Given the description of an element on the screen output the (x, y) to click on. 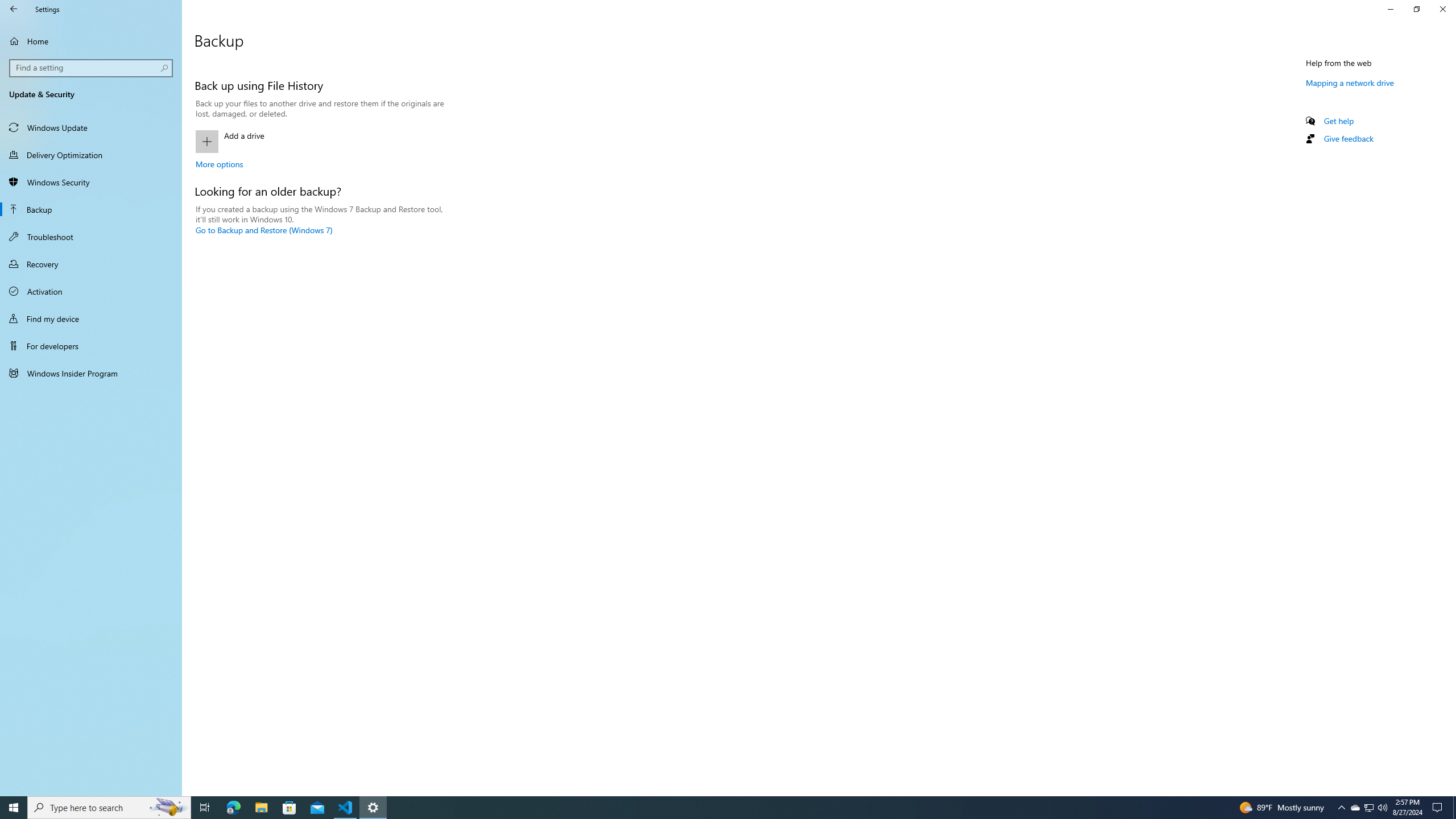
More options (219, 163)
Delivery Optimization (91, 154)
Backup (91, 208)
Go to Backup and Restore (Windows 7) (264, 229)
Activation (91, 290)
Find my device (91, 318)
